Given the description of an element on the screen output the (x, y) to click on. 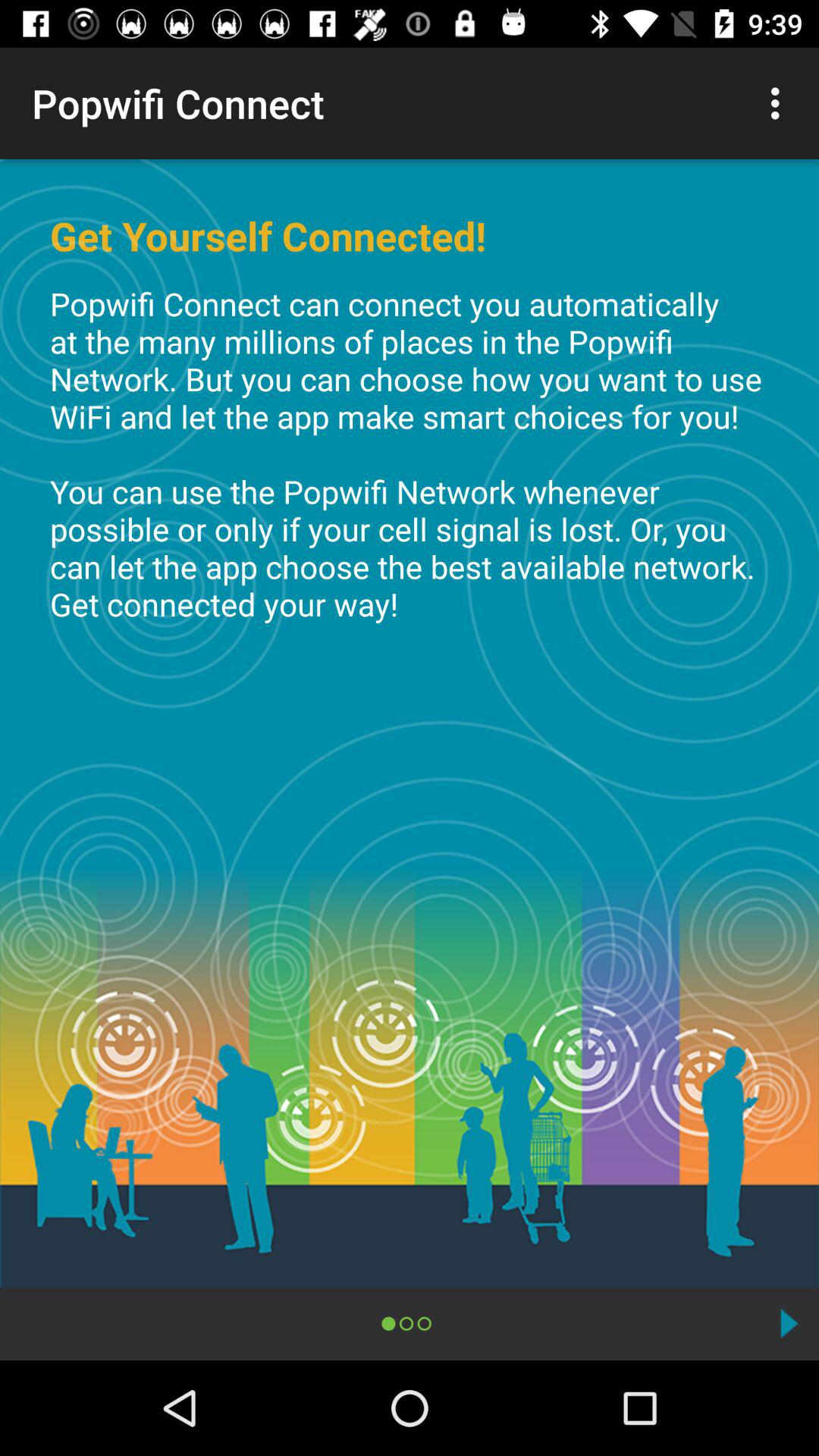
turn off the item to the right of the popwifi connect item (779, 103)
